Given the description of an element on the screen output the (x, y) to click on. 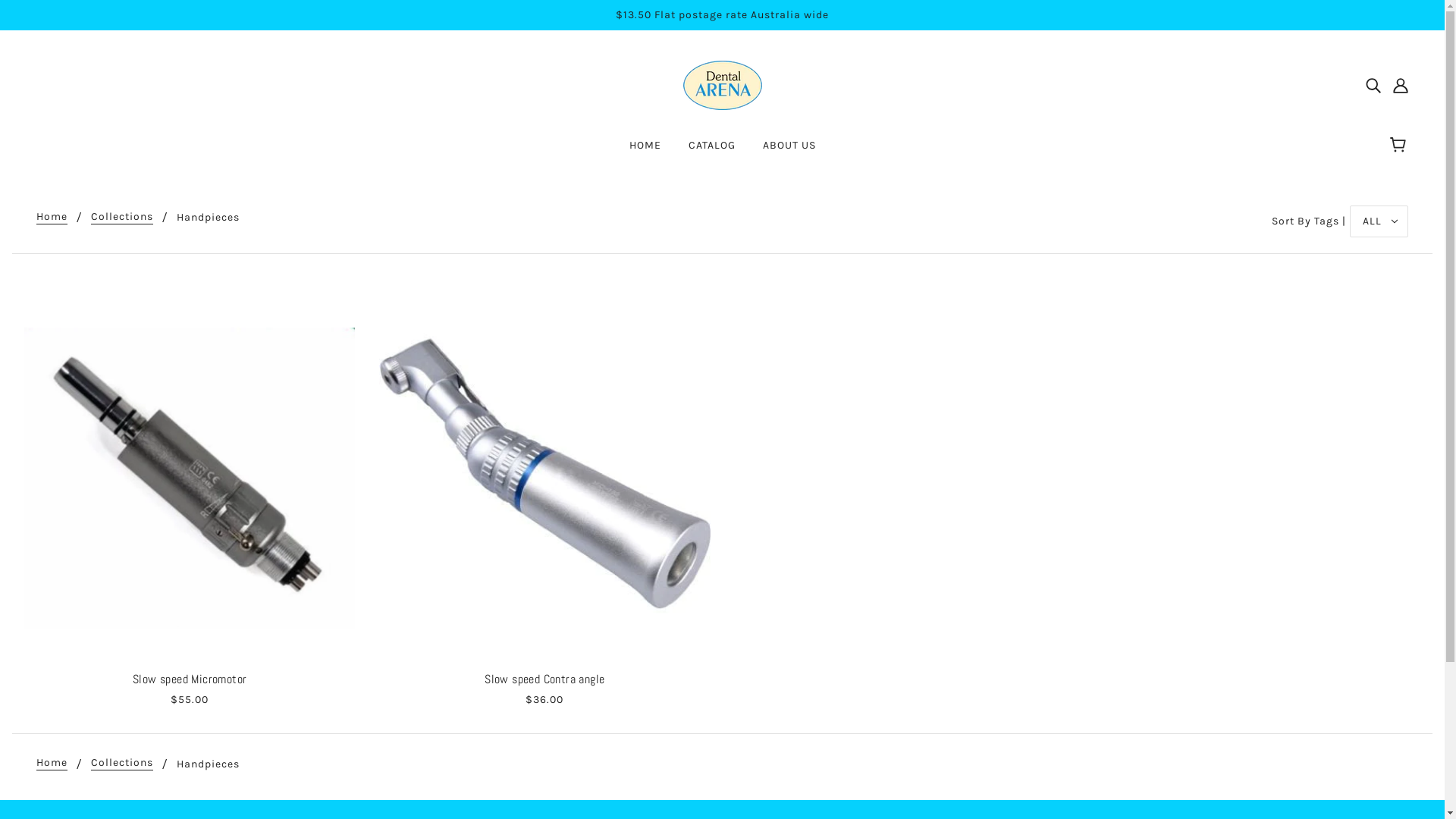
Slow speed Micromotor
$55.00 Element type: text (189, 493)
CATALOG Element type: text (711, 151)
Slow speed Contra angle
$36.00 Element type: text (544, 493)
Collections Element type: text (122, 216)
Dental Arena Supplies Element type: hover (721, 84)
HOME Element type: text (645, 151)
Collections Element type: text (122, 763)
ABOUT US Element type: text (789, 151)
Home Element type: text (51, 216)
Home Element type: text (51, 763)
